Given the description of an element on the screen output the (x, y) to click on. 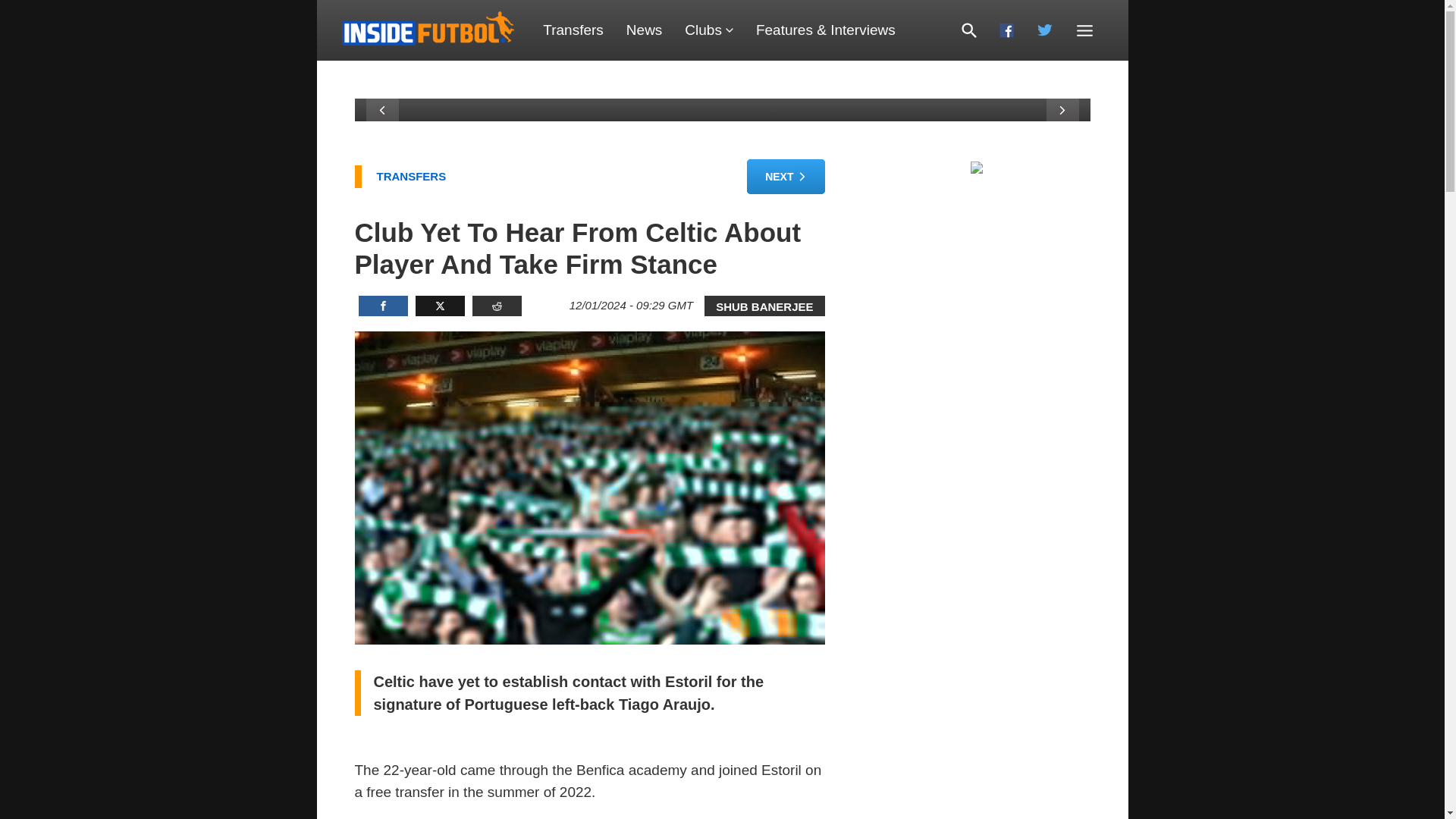
News (644, 30)
Transfers (572, 30)
Clubs (708, 30)
